Given the description of an element on the screen output the (x, y) to click on. 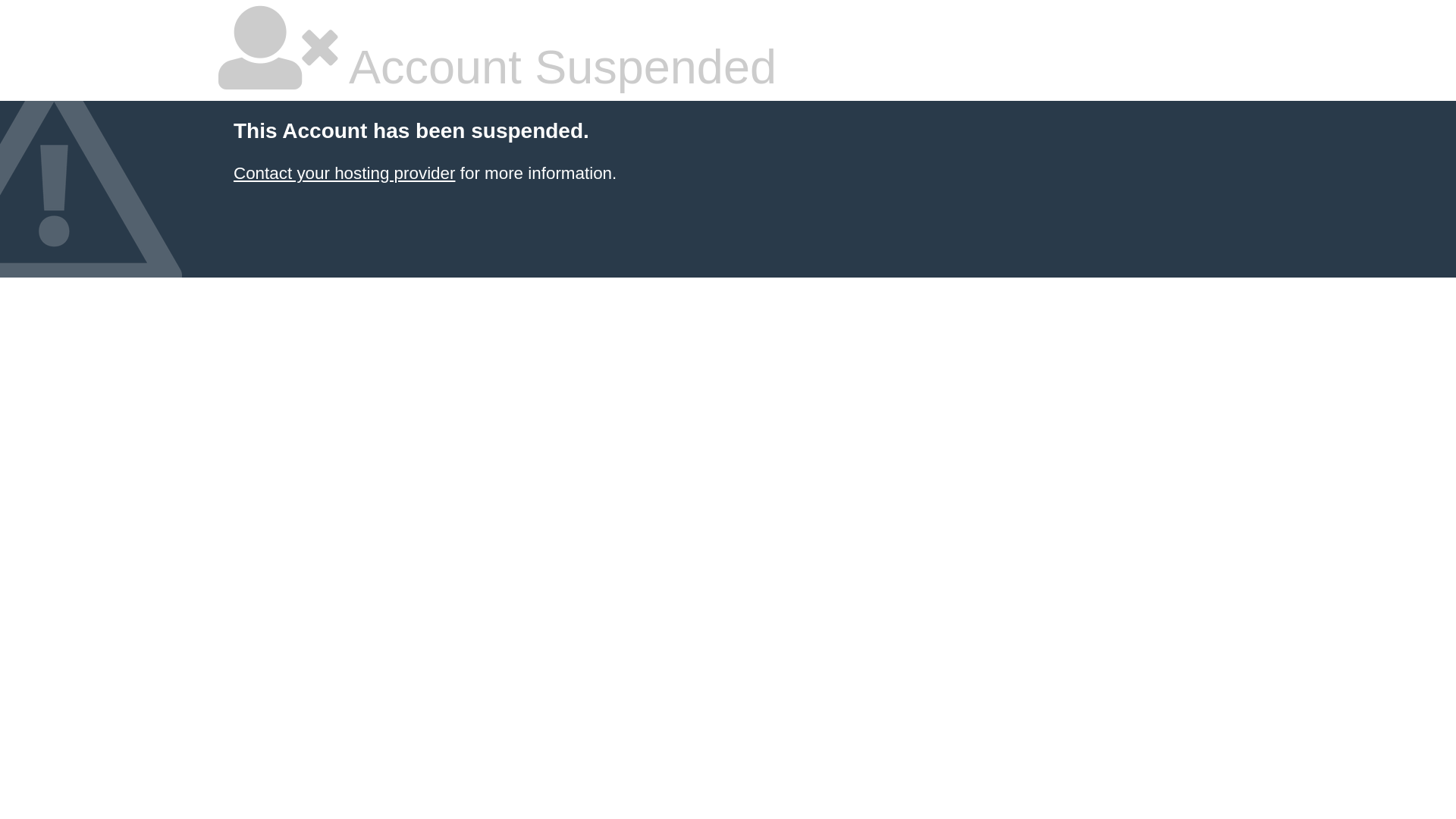
Contact your hosting provider Element type: text (344, 172)
